Given the description of an element on the screen output the (x, y) to click on. 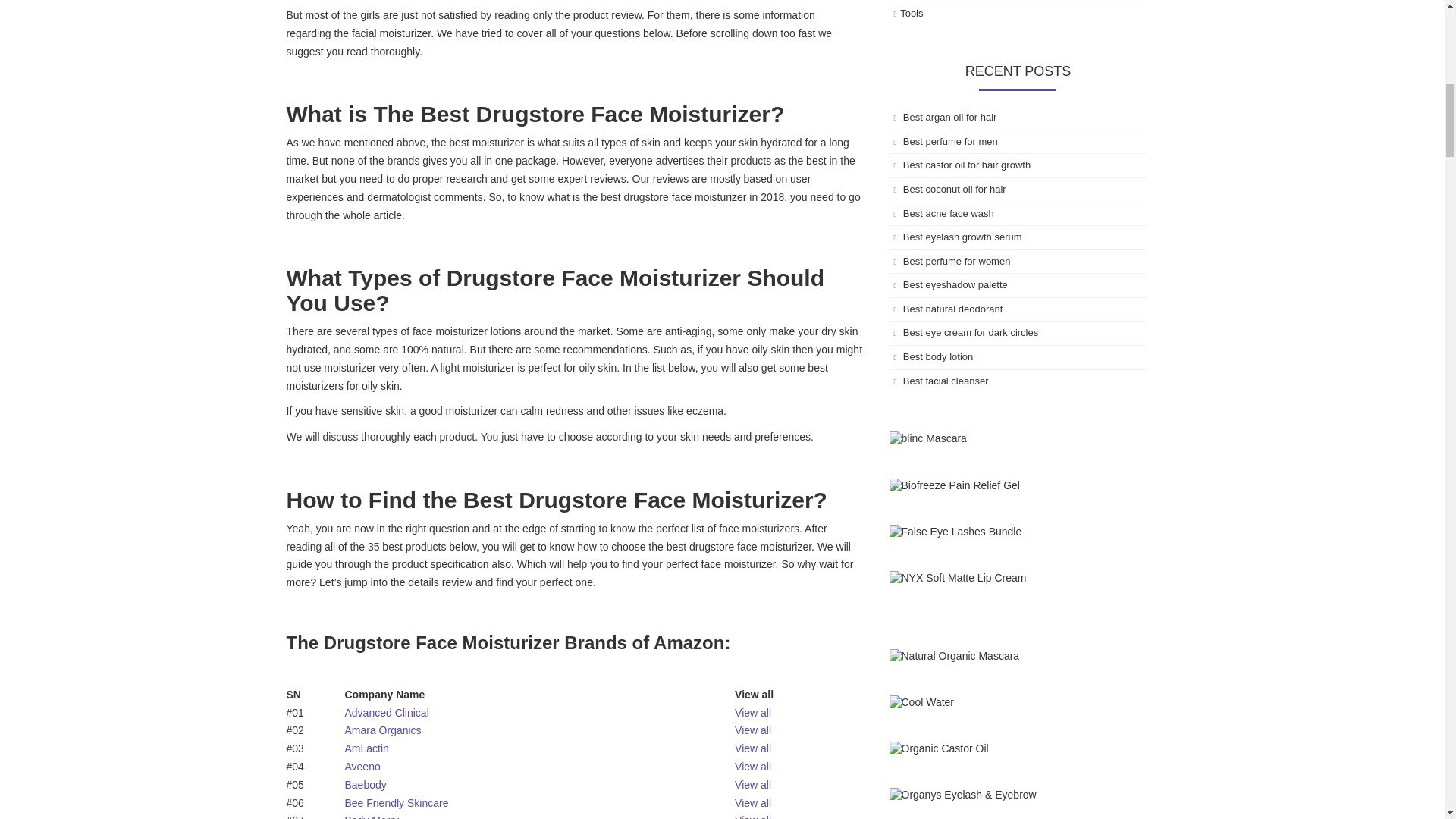
View all (753, 816)
Baebody (364, 784)
Bee Friendly Skincare (395, 802)
Aveeno (361, 766)
Advanced Clinical (385, 712)
View all (753, 748)
View all (753, 766)
Body Merry (370, 816)
View all (753, 784)
View all (753, 729)
View all (753, 802)
Amara Organics (381, 729)
AmLactin (365, 748)
View all (753, 712)
